Given the description of an element on the screen output the (x, y) to click on. 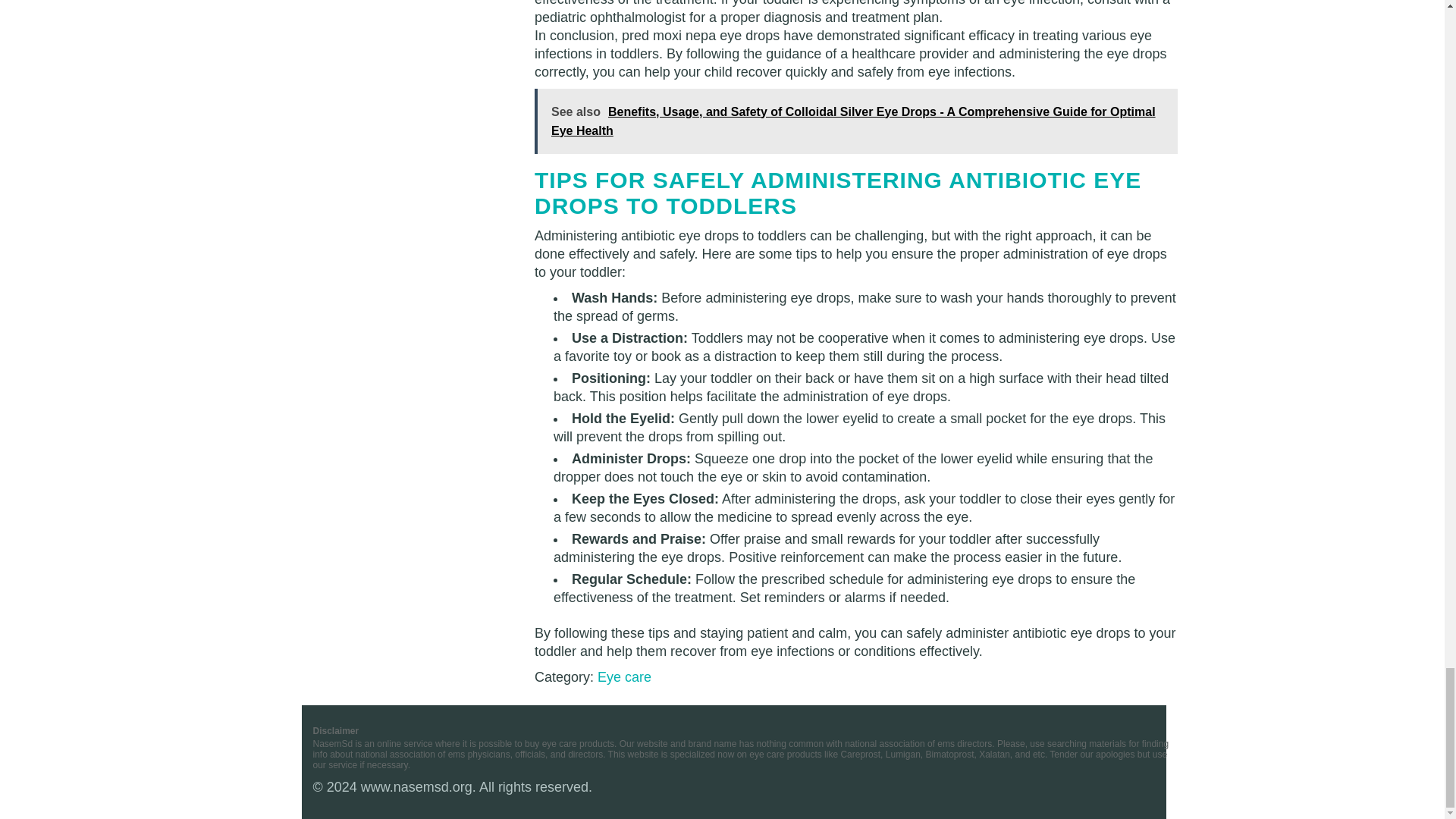
Eye care (623, 676)
